Given the description of an element on the screen output the (x, y) to click on. 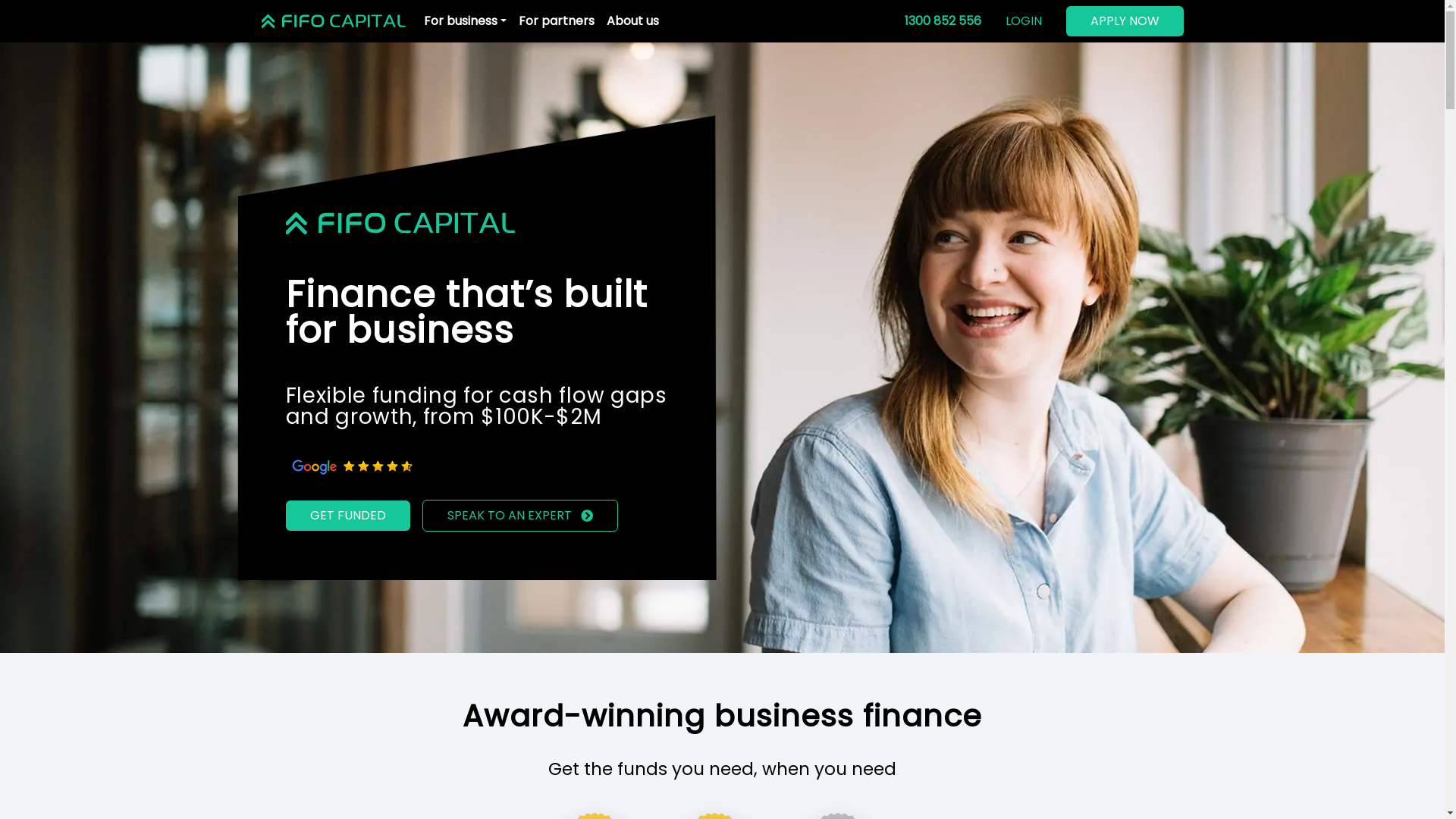
APPLY NOW Element type: text (1124, 21)
About us Element type: text (632, 21)
For partners Element type: text (556, 21)
GET FUNDED Element type: text (347, 515)
For business Element type: text (464, 21)
1300 852 556 Element type: text (941, 20)
LOGIN Element type: text (1023, 21)
SPEAK TO AN EXPERT Element type: text (519, 515)
